Given the description of an element on the screen output the (x, y) to click on. 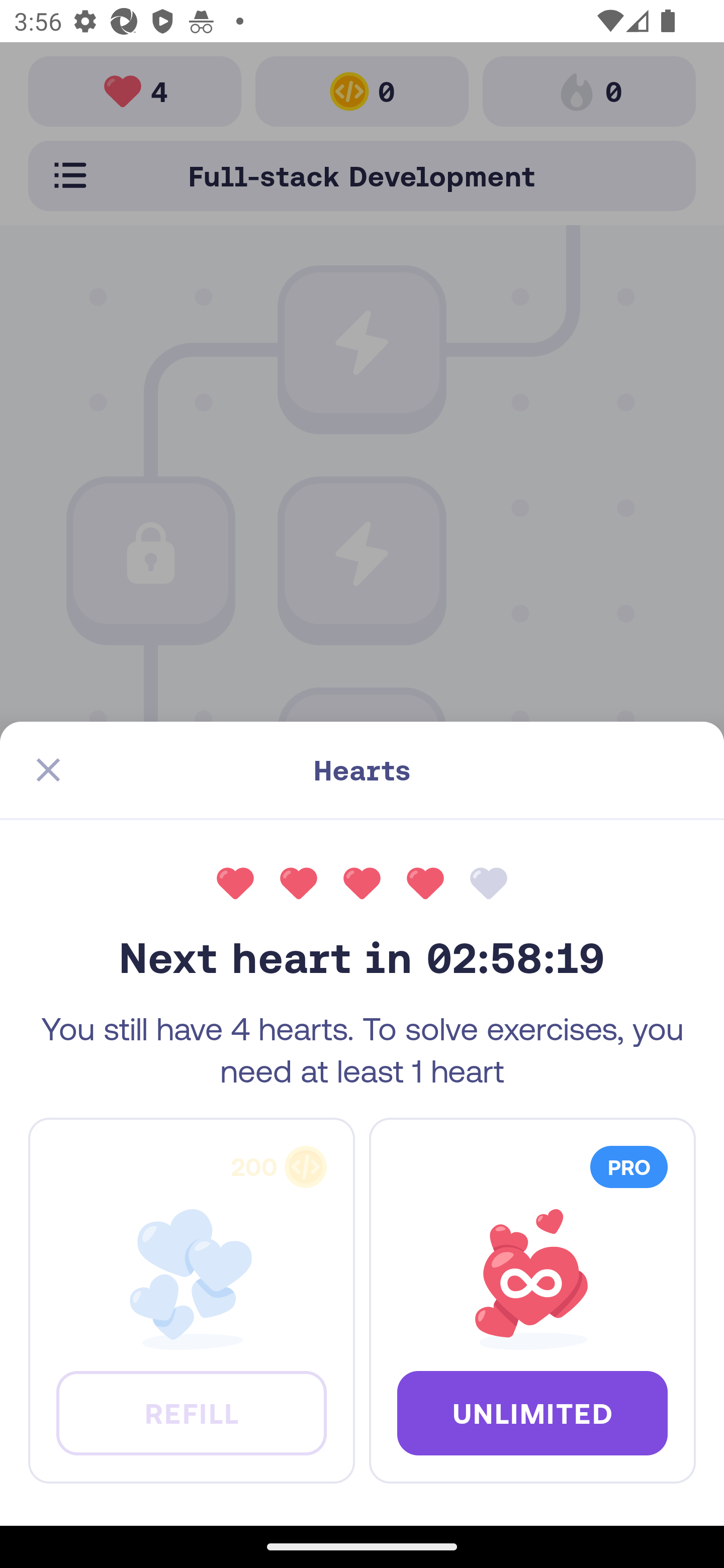
Path Icon (361, 764)
Close (47, 769)
REFILL (191, 1412)
UNLIMITED (532, 1412)
